Given the description of an element on the screen output the (x, y) to click on. 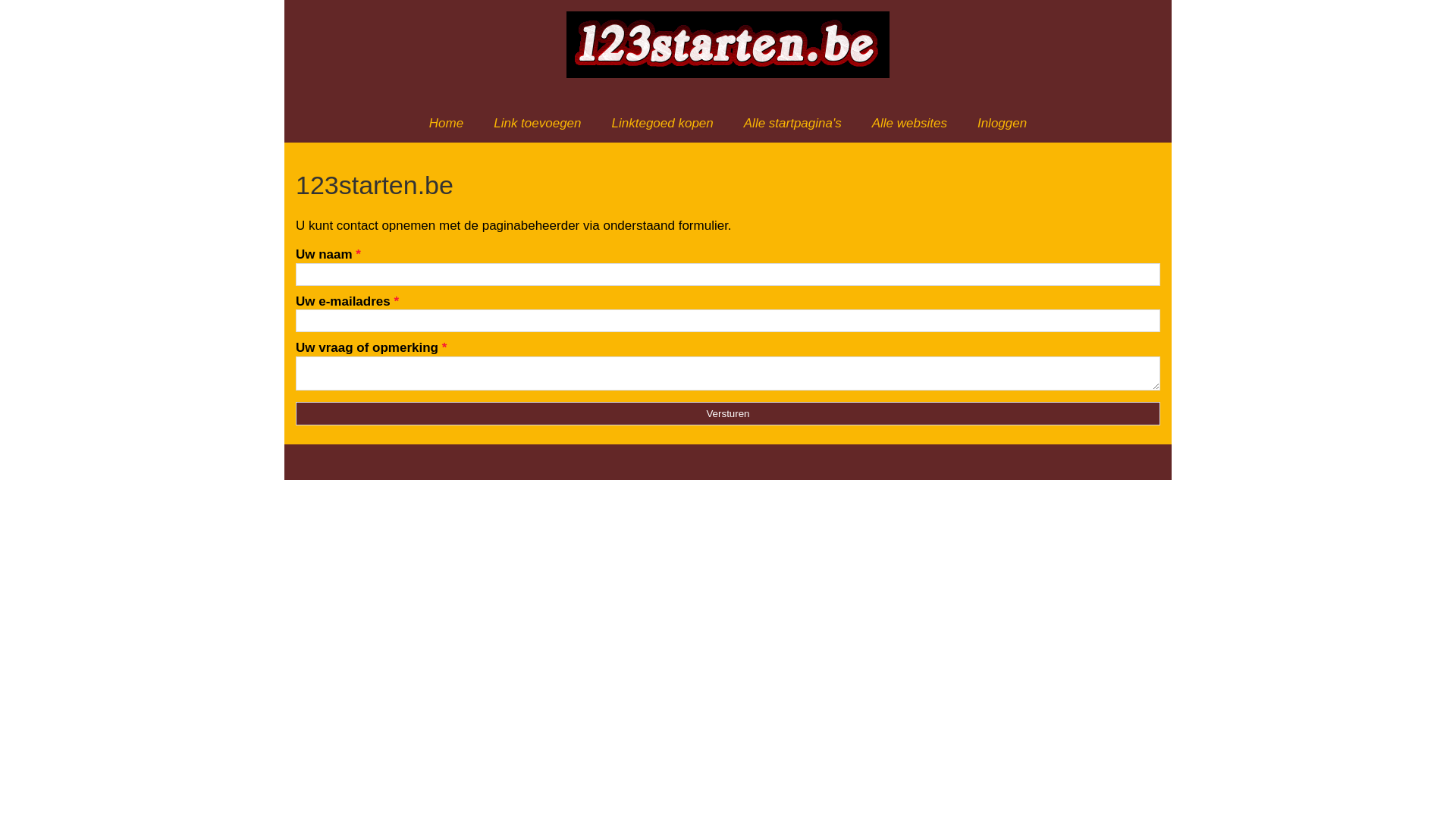
Alle websites Element type: text (909, 122)
Home Element type: text (446, 122)
Link toevoegen Element type: text (537, 122)
123starten.be Element type: text (727, 185)
Versturen Element type: text (727, 412)
Alle startpagina's Element type: text (792, 122)
Linktegoed kopen Element type: text (662, 122)
Inloggen Element type: text (1001, 122)
